Given the description of an element on the screen output the (x, y) to click on. 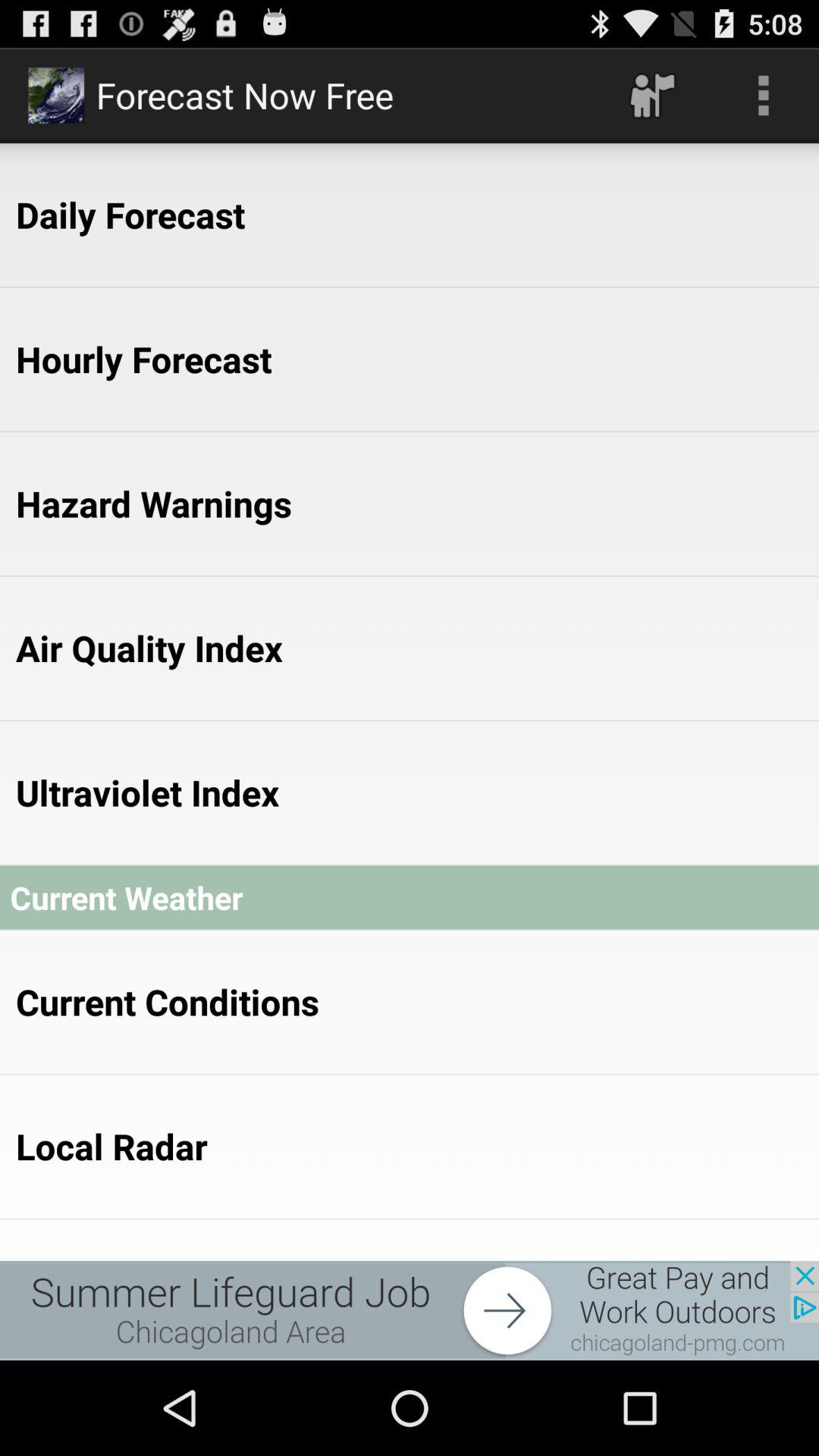
open page (409, 1310)
